Given the description of an element on the screen output the (x, y) to click on. 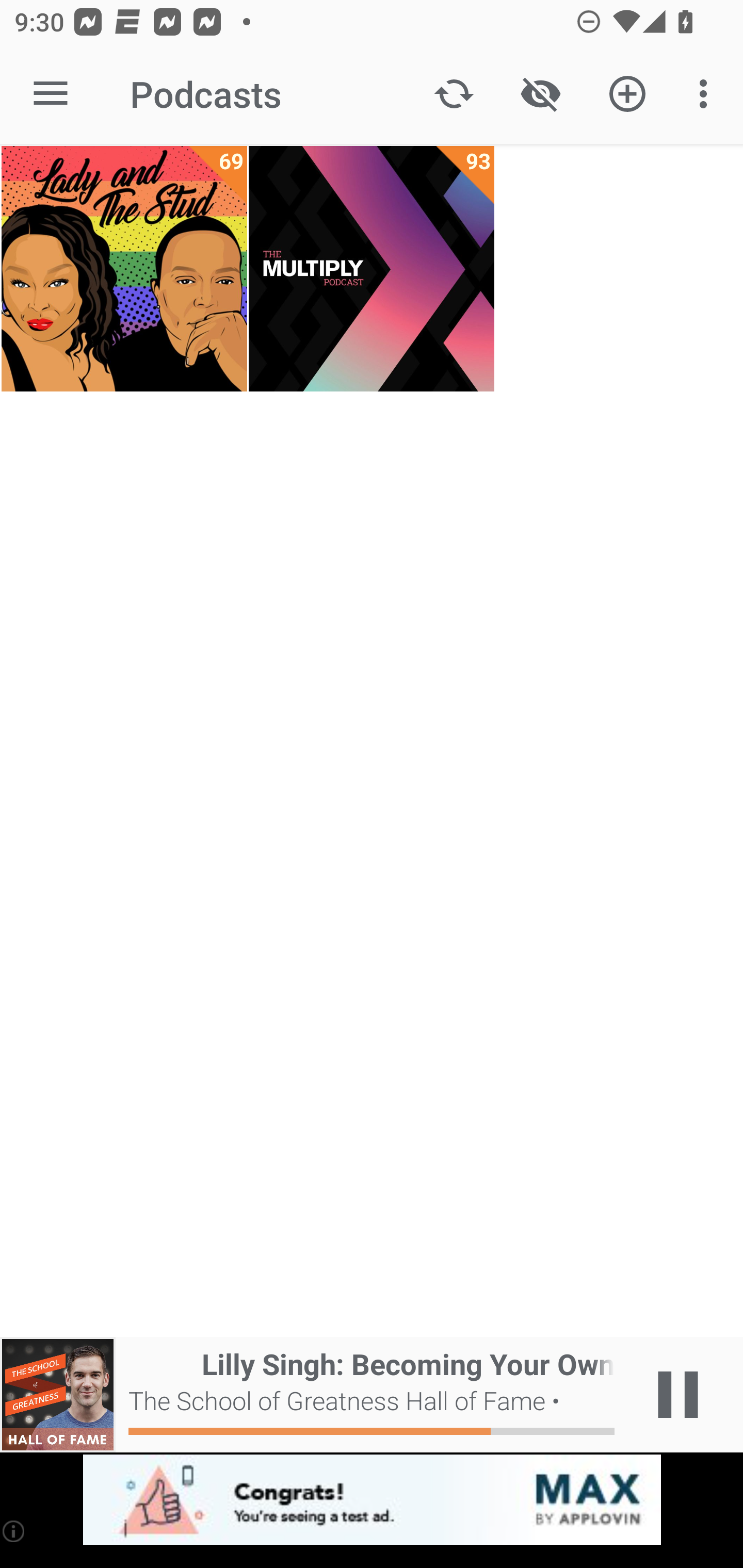
Open navigation sidebar (50, 93)
Update (453, 93)
Show / Hide played content (540, 93)
Add new Podcast (626, 93)
More options (706, 93)
Lady and The Stud 69 (124, 268)
The Multiply Podcast 93 (371, 268)
Play / Pause (677, 1394)
app-monetization (371, 1500)
(i) (14, 1531)
